Given the description of an element on the screen output the (x, y) to click on. 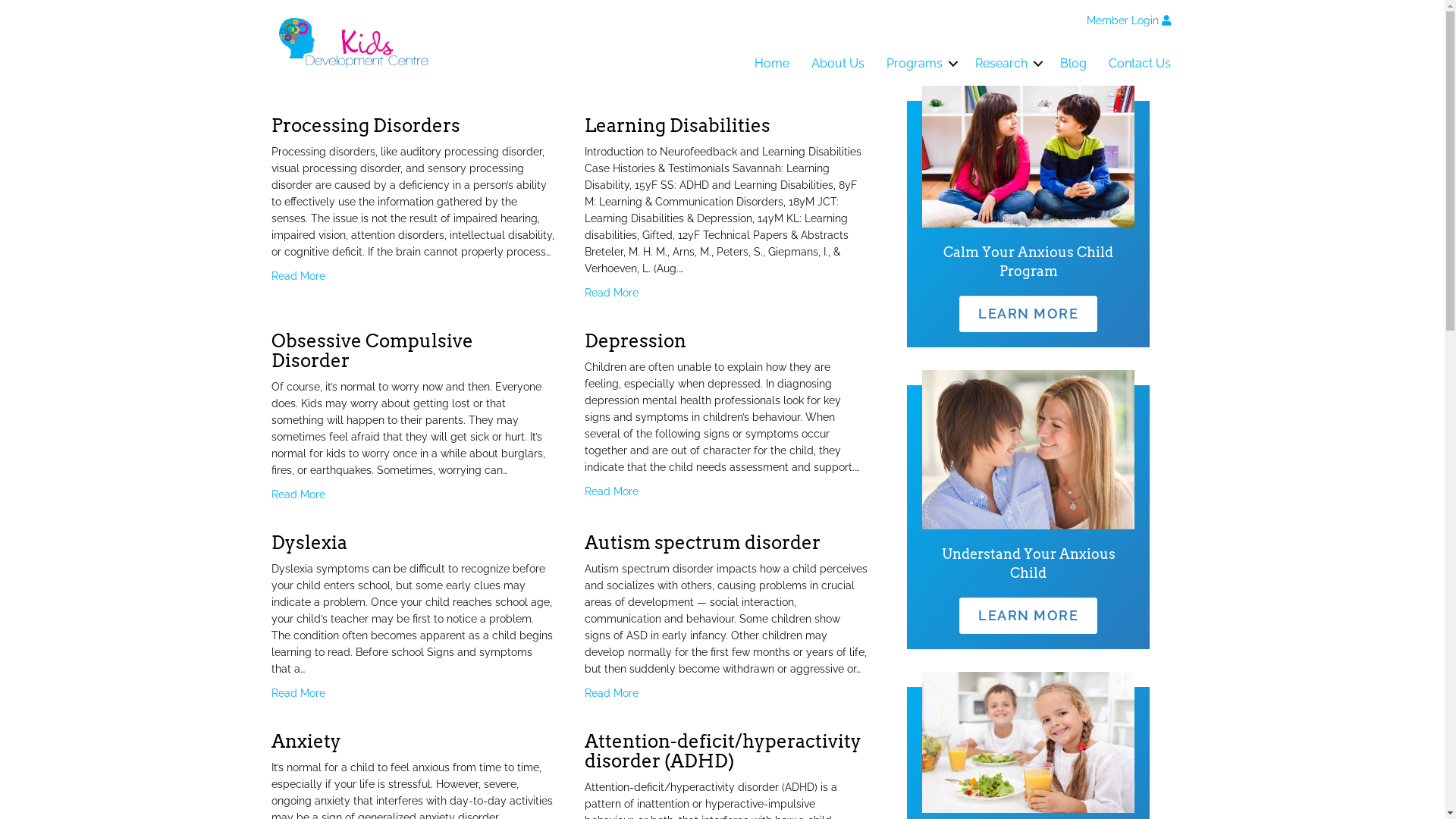
Research Element type: text (1006, 63)
Understand Your Anxious Child Element type: text (1028, 563)
Obsessive Compulsive Disorder Element type: text (372, 350)
Read More Element type: text (611, 491)
About Us Element type: text (837, 63)
Dyslexia Element type: text (309, 542)
Logo Large Element type: hover (354, 42)
Blog Element type: text (1073, 63)
Processing Disorders Element type: text (365, 125)
Depositphotos 7538993 Stock Photo Kids Eating A Healthy Meal Element type: hover (1028, 742)
Read More Element type: text (298, 275)
Read More Element type: text (298, 692)
Read More Element type: text (611, 292)
Home Element type: text (771, 63)
Happy Son And Mum Element type: hover (1028, 449)
Read More Element type: text (298, 494)
LEARN MORE Element type: text (1028, 615)
Anxiety Element type: text (306, 741)
LEARN MORE Element type: text (1028, 313)
Read More Element type: text (611, 692)
Learning Disabilities Element type: text (677, 125)
Depression Element type: text (635, 340)
Autism spectrum disorder Element type: text (702, 542)
Two Kids Together Element type: hover (1028, 156)
Member Login Element type: text (1128, 20)
Contact Us Element type: text (1139, 63)
Programs Element type: text (919, 63)
Attention-deficit/hyperactivity disorder (ADHD) Element type: text (722, 750)
